Given the description of an element on the screen output the (x, y) to click on. 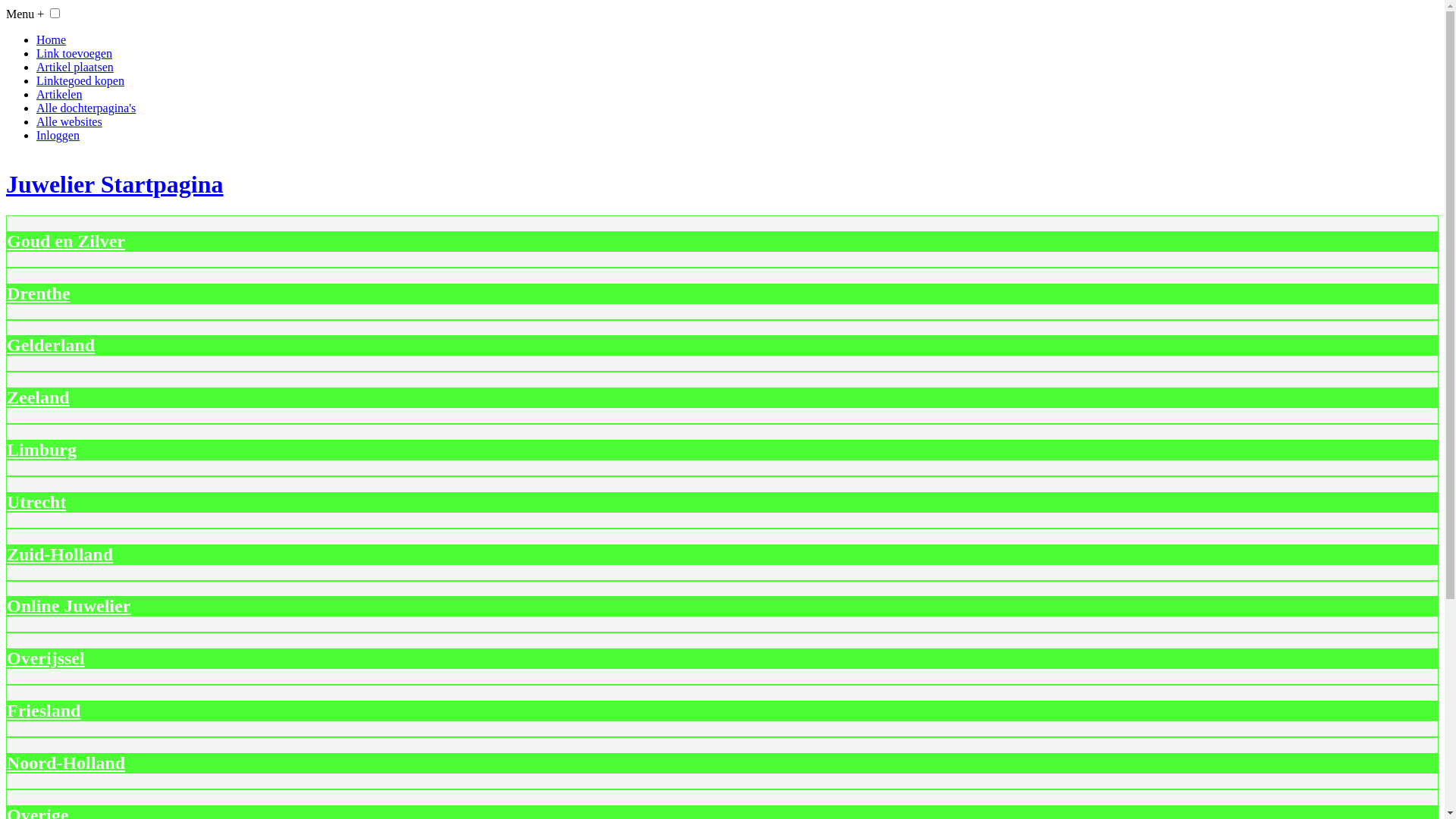
Juwelier Startpagina Element type: text (722, 184)
Zeeland Element type: text (37, 397)
Inloggen Element type: text (57, 134)
Zuid-Holland Element type: text (59, 554)
Artikelen Element type: text (58, 93)
Home Element type: text (50, 39)
Friesland Element type: text (43, 710)
Goud en Zilver Element type: text (65, 241)
Link toevoegen Element type: text (74, 53)
Linktegoed kopen Element type: text (80, 80)
Noord-Holland Element type: text (65, 762)
Alle dochterpagina's Element type: text (85, 107)
Drenthe Element type: text (38, 293)
Alle websites Element type: text (69, 121)
Utrecht Element type: text (35, 501)
Online Juwelier Element type: text (68, 605)
Limburg Element type: text (41, 449)
Overijssel Element type: text (45, 658)
Gelderland Element type: text (50, 344)
Artikel plaatsen Element type: text (74, 66)
